Given the description of an element on the screen output the (x, y) to click on. 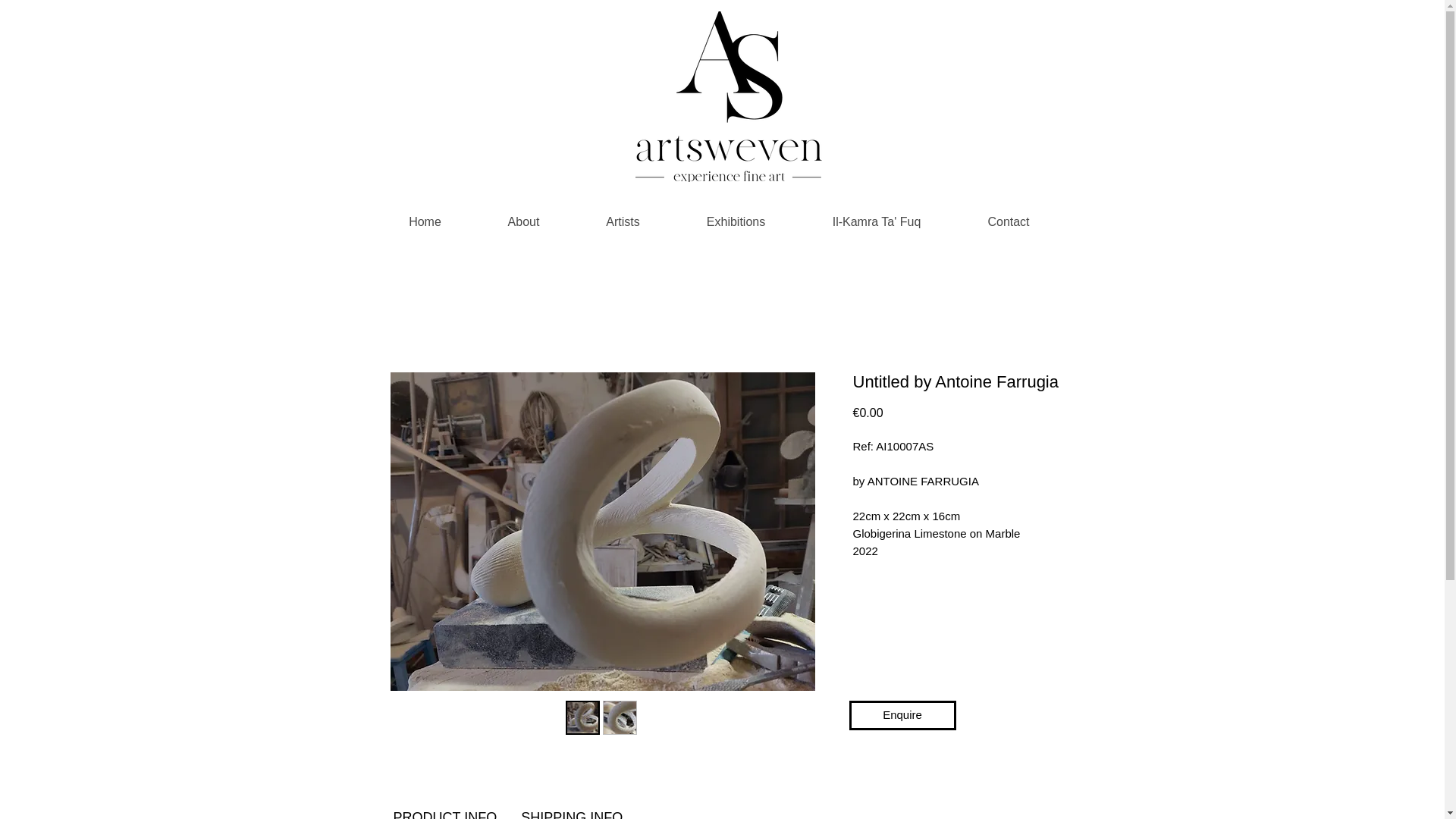
Use right and left arrows to navigate between tabs (572, 808)
Contact (1007, 214)
Il-Kamra Ta' Fuq (877, 214)
Use right and left arrows to navigate between tabs (443, 808)
Enquire (902, 715)
About (523, 214)
Artists (622, 214)
Exhibitions (735, 214)
Home (424, 214)
